Given the description of an element on the screen output the (x, y) to click on. 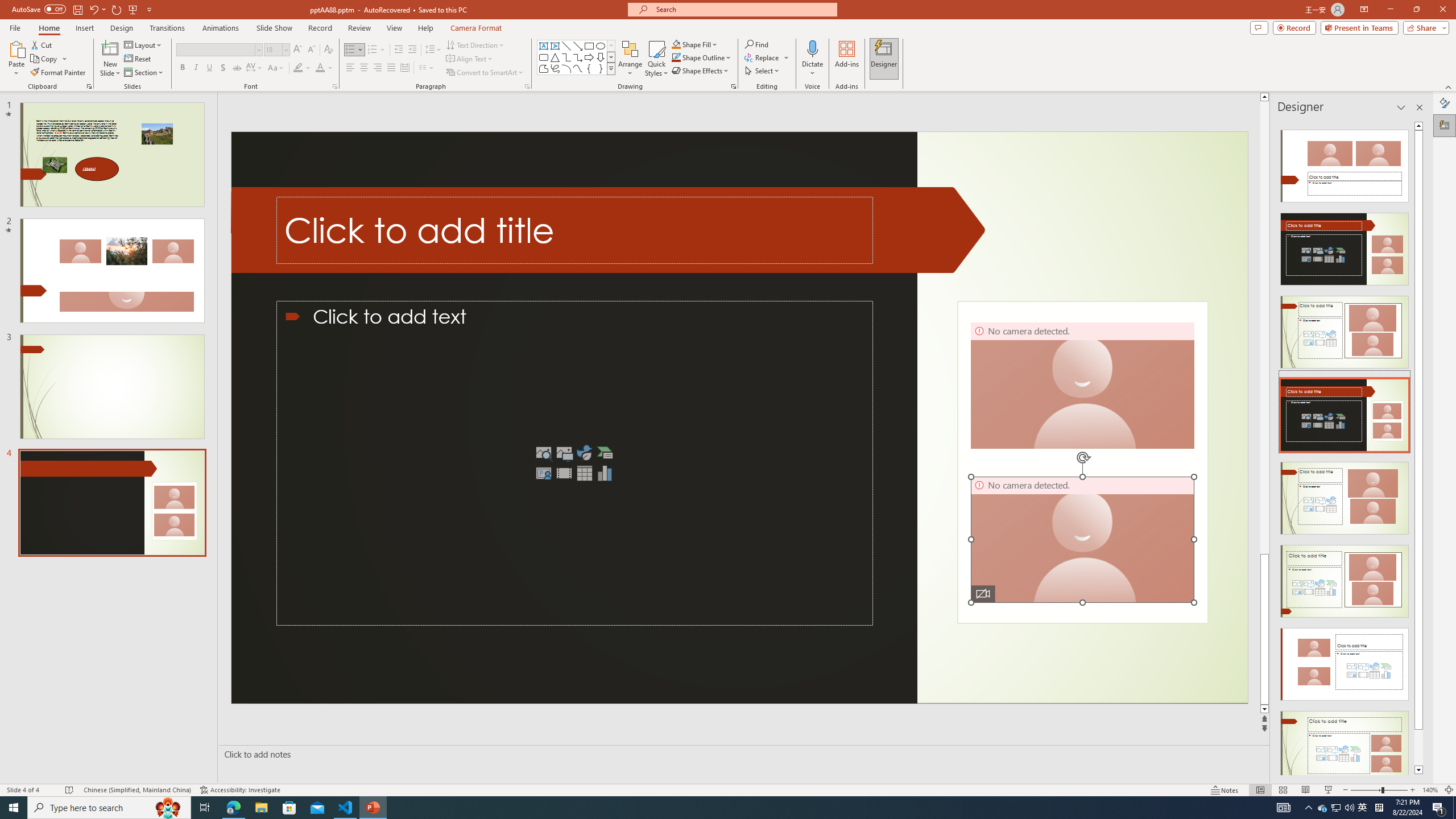
Connector: Elbow (566, 57)
Arrange (630, 58)
Strikethrough (237, 67)
Columns (426, 67)
Dictate (812, 58)
Replace... (762, 56)
Camera Format (475, 28)
Shape Effects (700, 69)
Line down (1264, 709)
Text Highlight Color (302, 67)
Text Box (543, 45)
Reset (138, 58)
Font Color (324, 67)
